Given the description of an element on the screen output the (x, y) to click on. 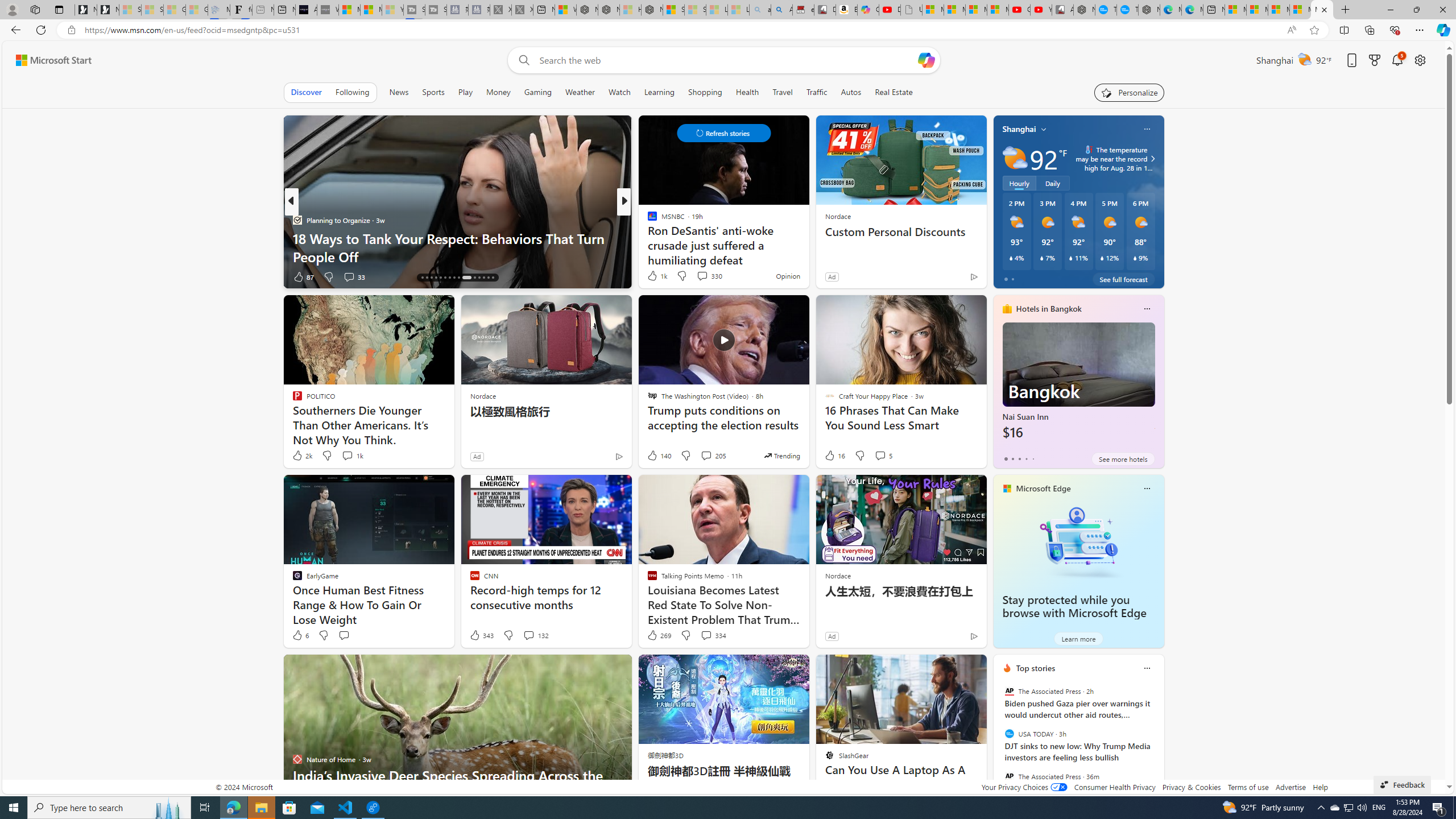
Microsoft Start Sports (349, 9)
Partly sunny (1014, 158)
View comments 213 Comment (6, 276)
previous (998, 741)
The Associated Press (1008, 775)
View comments 132 Comment (528, 635)
You're following FOX News (253, 279)
Learning (658, 92)
Skip to footer (46, 59)
AutomationID: tab-21 (444, 277)
Autos (851, 92)
Autos (850, 92)
Class: control (723, 132)
